Given the description of an element on the screen output the (x, y) to click on. 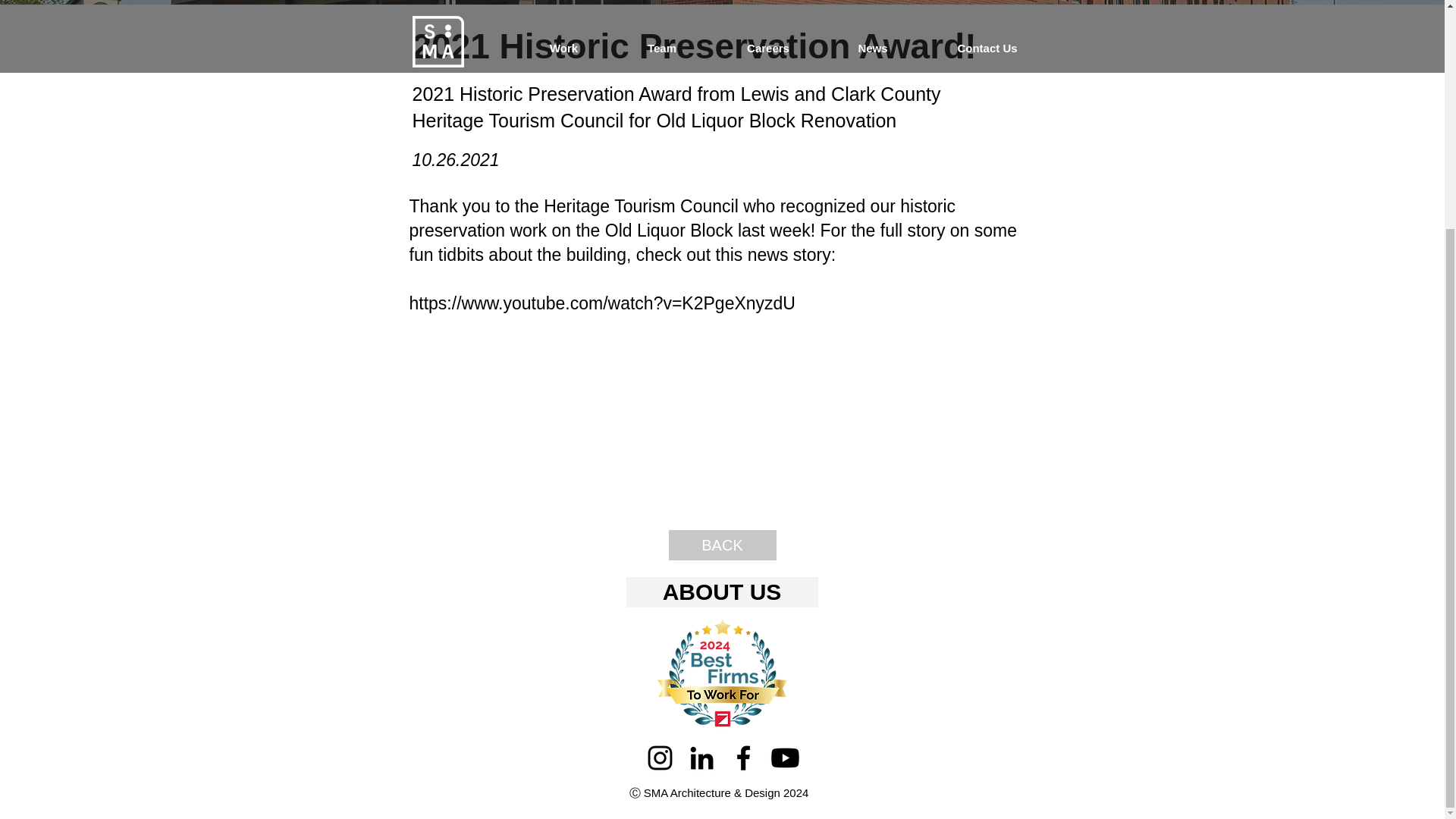
ABOUT US (722, 592)
BACK (722, 544)
